Given the description of an element on the screen output the (x, y) to click on. 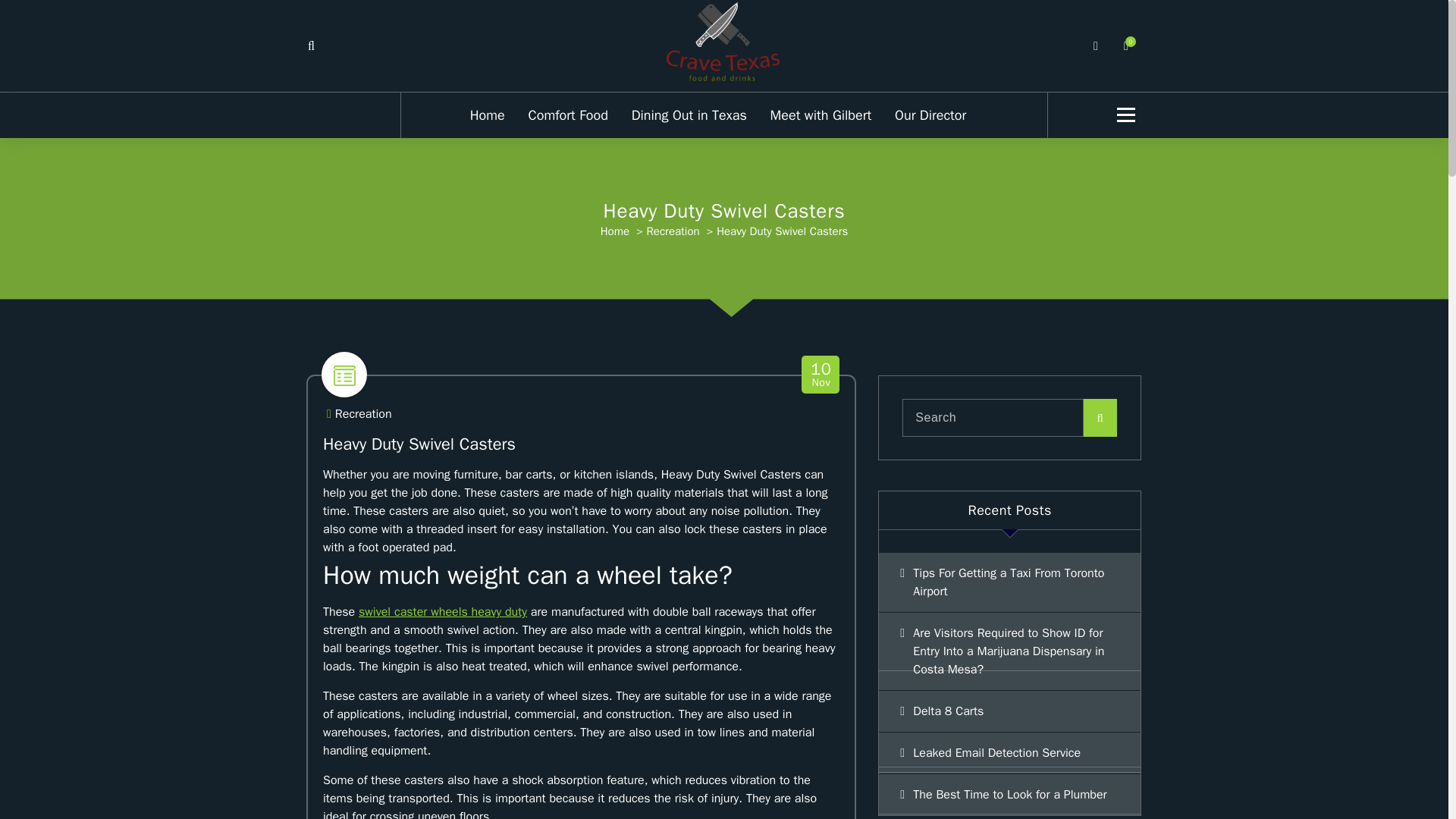
Comfort Food (568, 115)
Meet with Gilbert (820, 115)
Home (613, 231)
Our Director (930, 115)
Leaked Email Detection Service (1009, 752)
Recreation (673, 231)
Tips For Getting a Taxi From Toronto Airport (1009, 581)
Dining Out in Texas (820, 375)
Delta 8 Carts (689, 115)
swivel caster wheels heavy duty (1009, 711)
Recreation (442, 611)
Dining Out in Texas (362, 414)
Meet with Gilbert (689, 115)
